Given the description of an element on the screen output the (x, y) to click on. 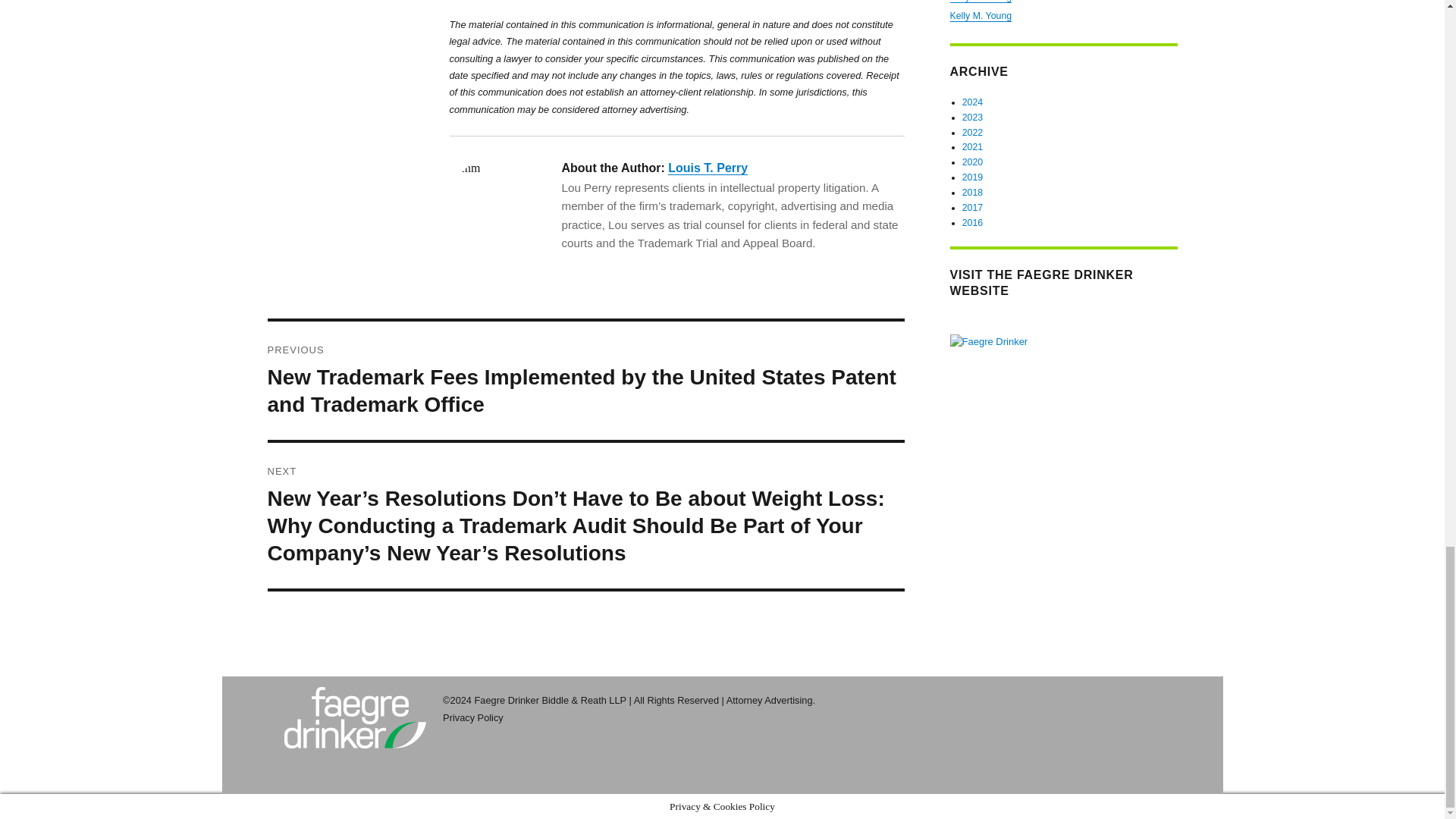
Louis T. Perry (708, 167)
